Given the description of an element on the screen output the (x, y) to click on. 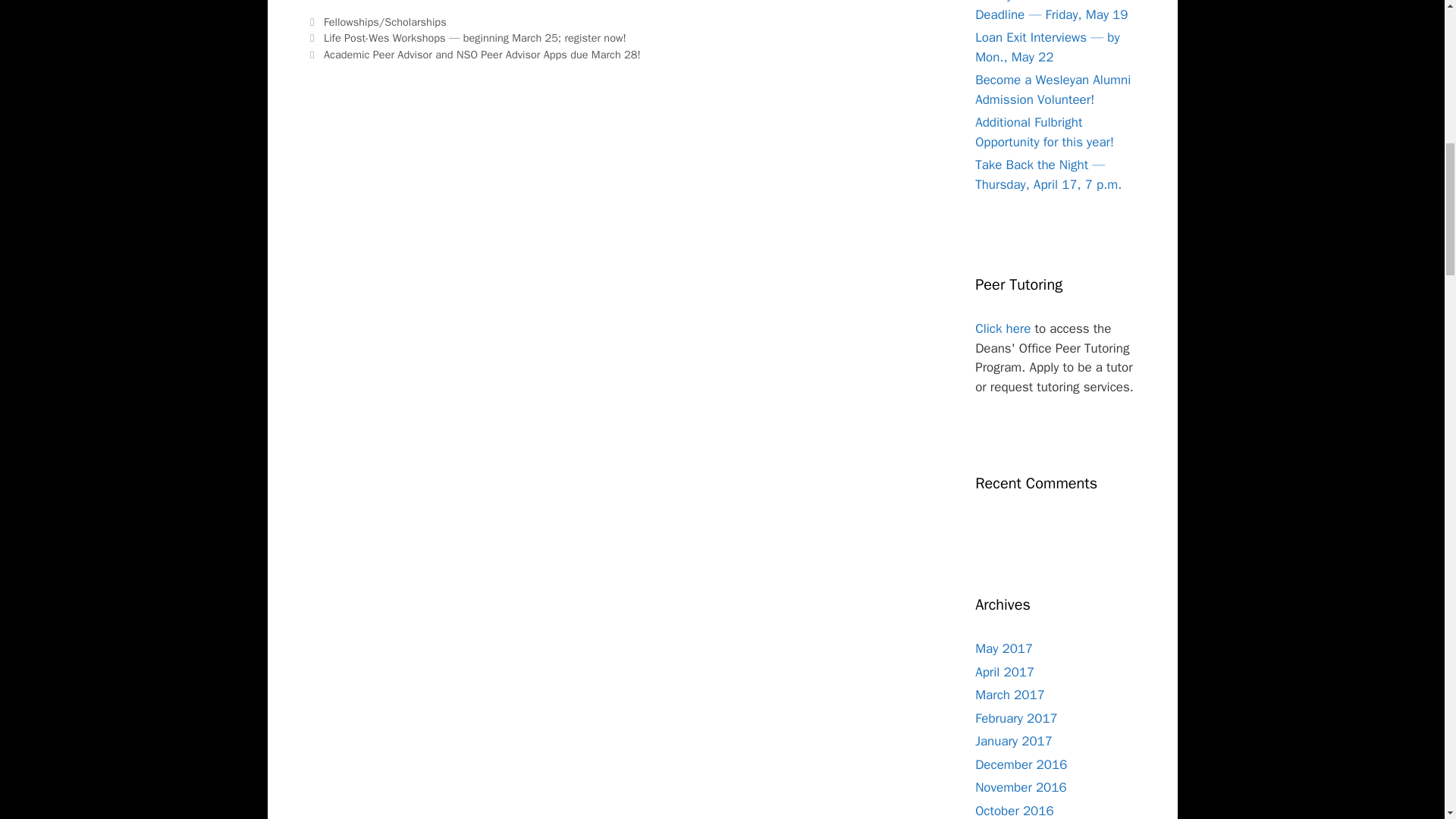
April 2017 (1004, 672)
Click here (1002, 328)
May 2017 (1003, 648)
Additional Fulbright Opportunity for this year! (1044, 131)
Become a Wesleyan Alumni Admission Volunteer! (1053, 89)
